Given the description of an element on the screen output the (x, y) to click on. 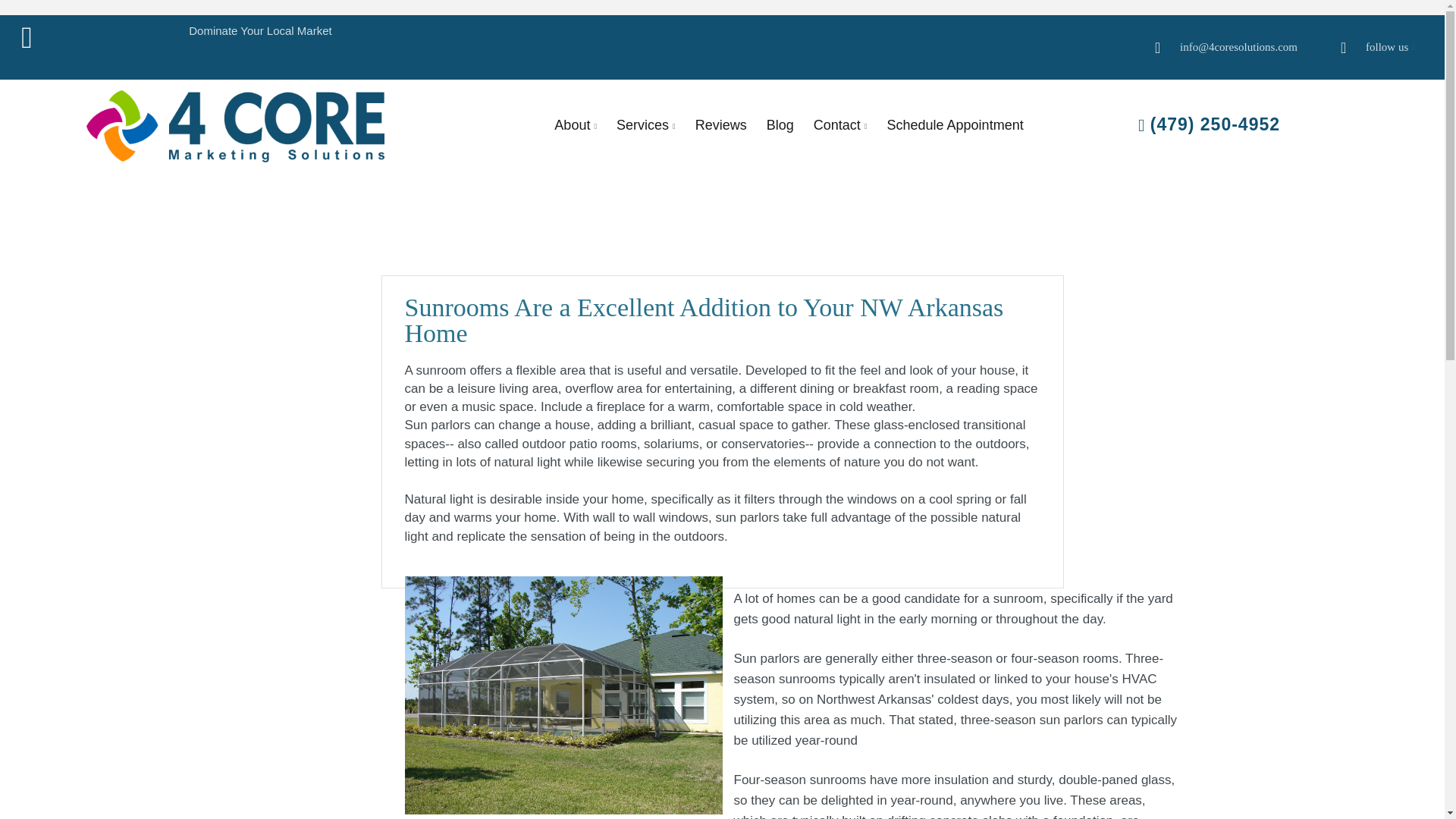
About (571, 125)
Services (641, 125)
follow us (1386, 47)
